Given the description of an element on the screen output the (x, y) to click on. 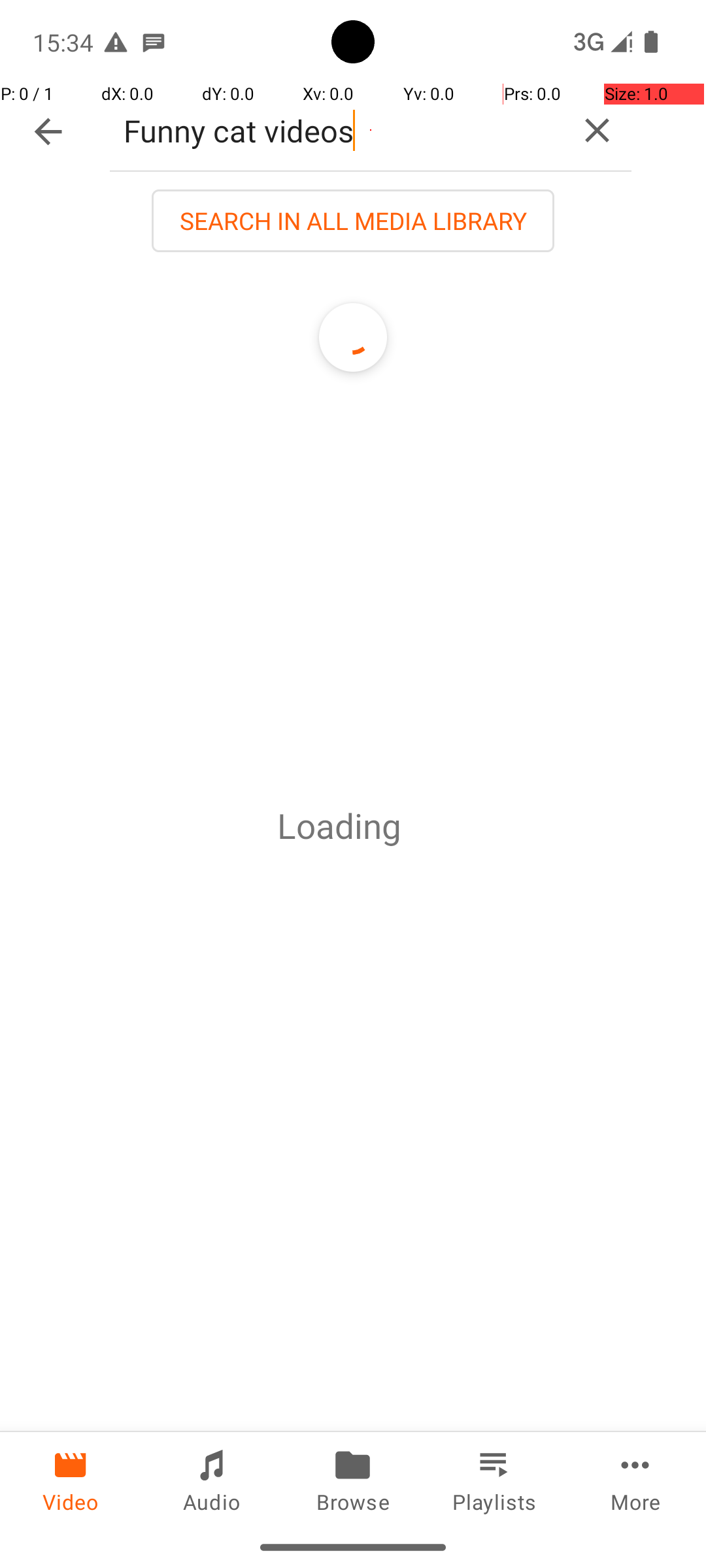
SEARCH IN ALL MEDIA LIBRARY Element type: android.widget.Button (352, 220)
Loading Element type: android.widget.TextView (339, 825)
Funny cat videos Element type: android.widget.AutoCompleteTextView (335, 130)
Clear query Element type: android.widget.ImageView (596, 130)
